Given the description of an element on the screen output the (x, y) to click on. 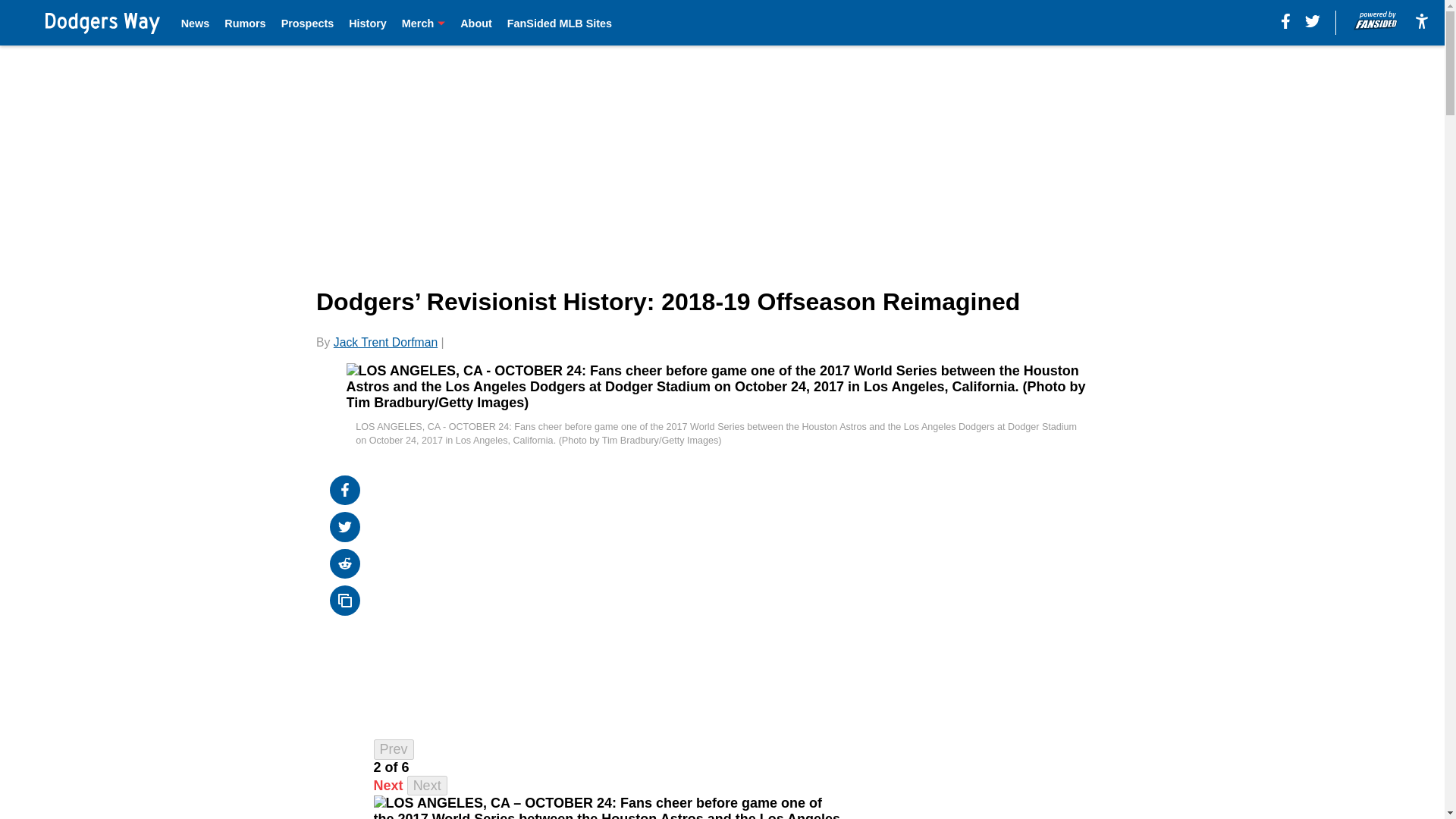
Jack Trent Dorfman (385, 341)
Prev (393, 749)
Prospects (307, 23)
Rumors (244, 23)
FanSided MLB Sites (558, 23)
About (476, 23)
Next (426, 785)
Next (388, 785)
News (194, 23)
History (368, 23)
